Given the description of an element on the screen output the (x, y) to click on. 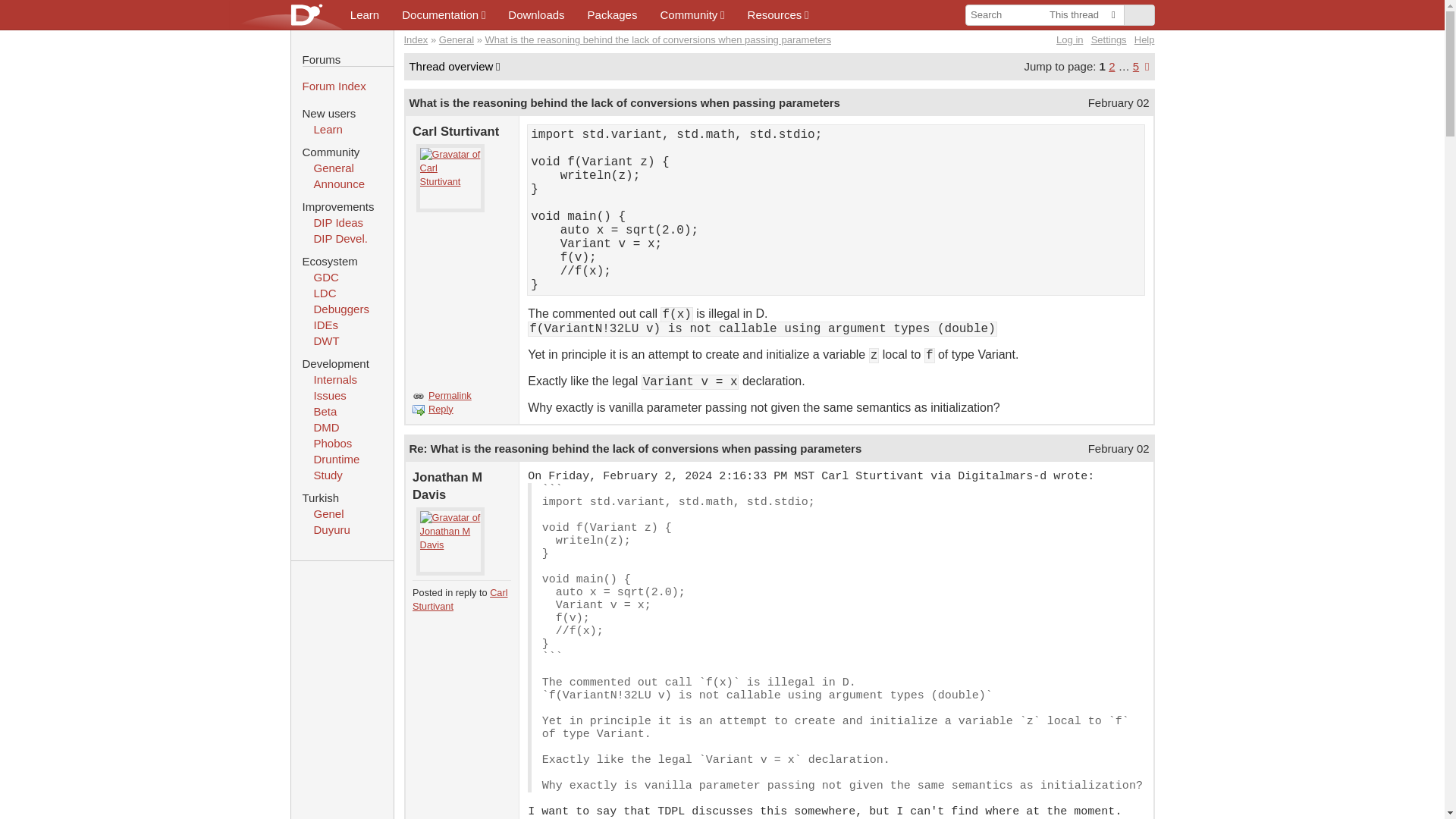
Learn (364, 14)
Documentation (443, 14)
Community (691, 14)
Resources (778, 14)
Packages (612, 14)
Downloads (535, 14)
